Given the description of an element on the screen output the (x, y) to click on. 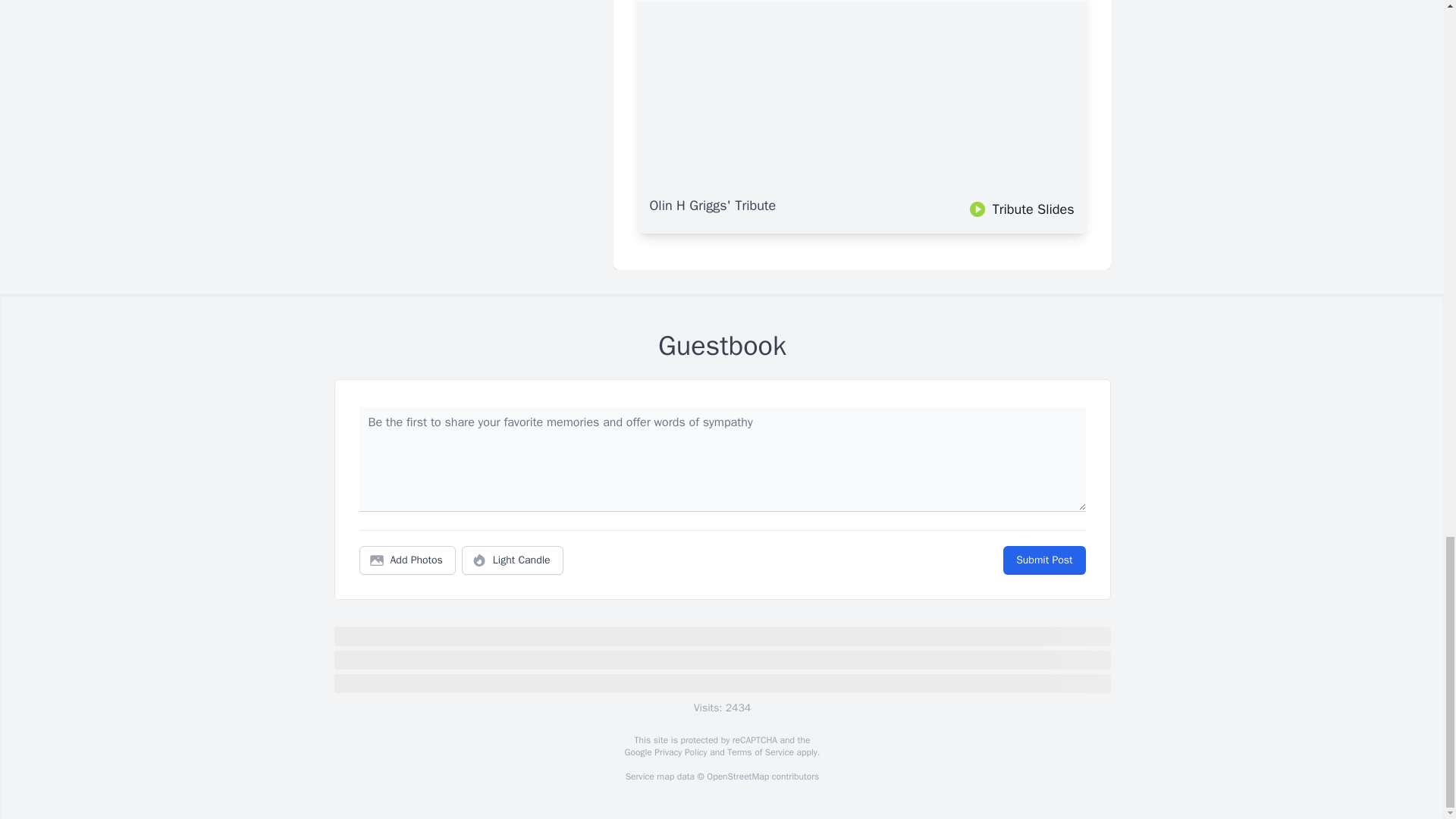
Add Photos (407, 560)
OpenStreetMap (737, 776)
Light Candle (512, 560)
Privacy Policy (679, 752)
Terms of Service (759, 752)
Submit Post (1043, 560)
